Given the description of an element on the screen output the (x, y) to click on. 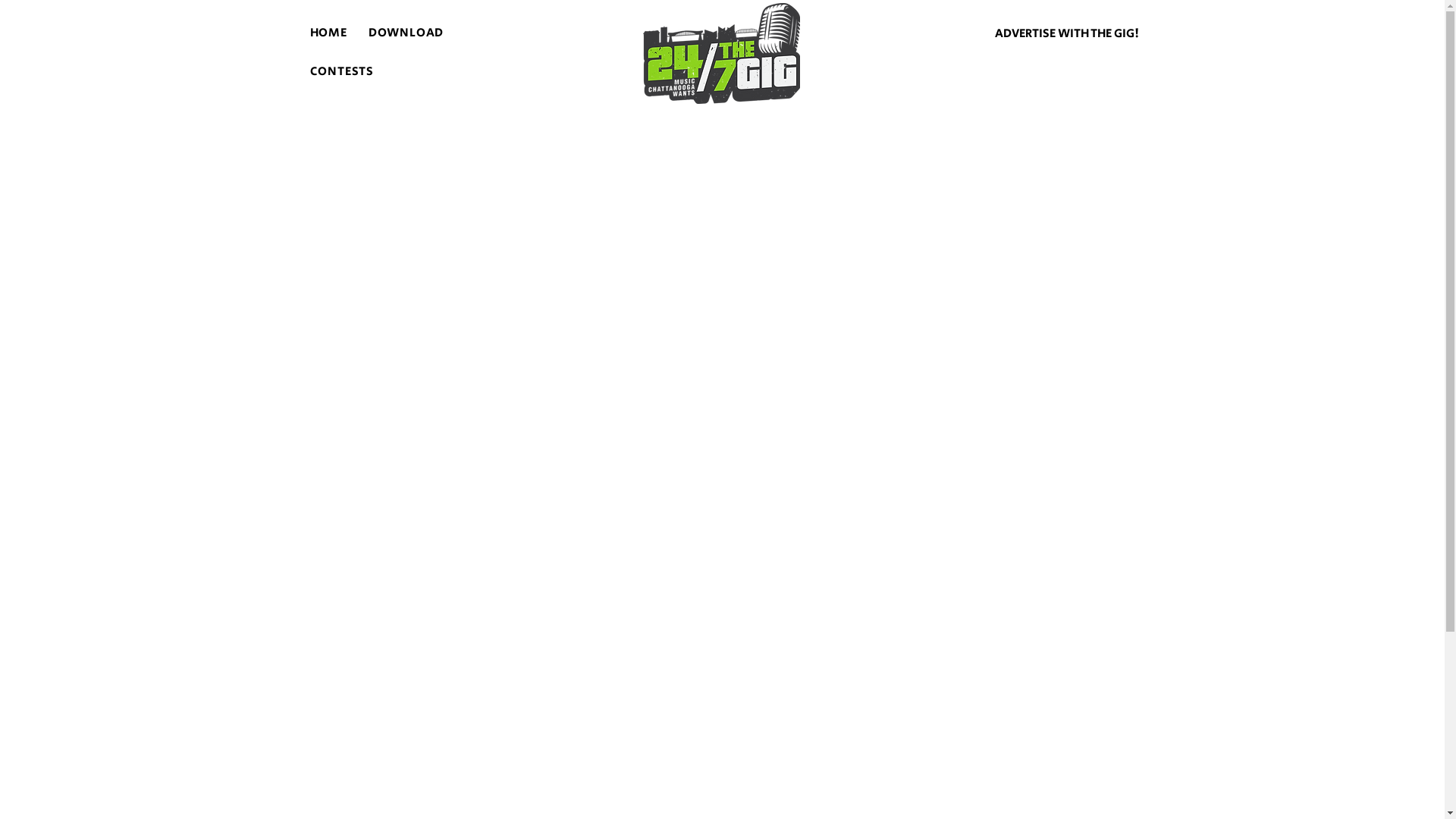
HOME Element type: text (327, 32)
ADVERTISE WITH THE GIG! Element type: text (1068, 33)
CONTESTS Element type: text (340, 71)
DOWNLOAD Element type: text (405, 32)
